Given the description of an element on the screen output the (x, y) to click on. 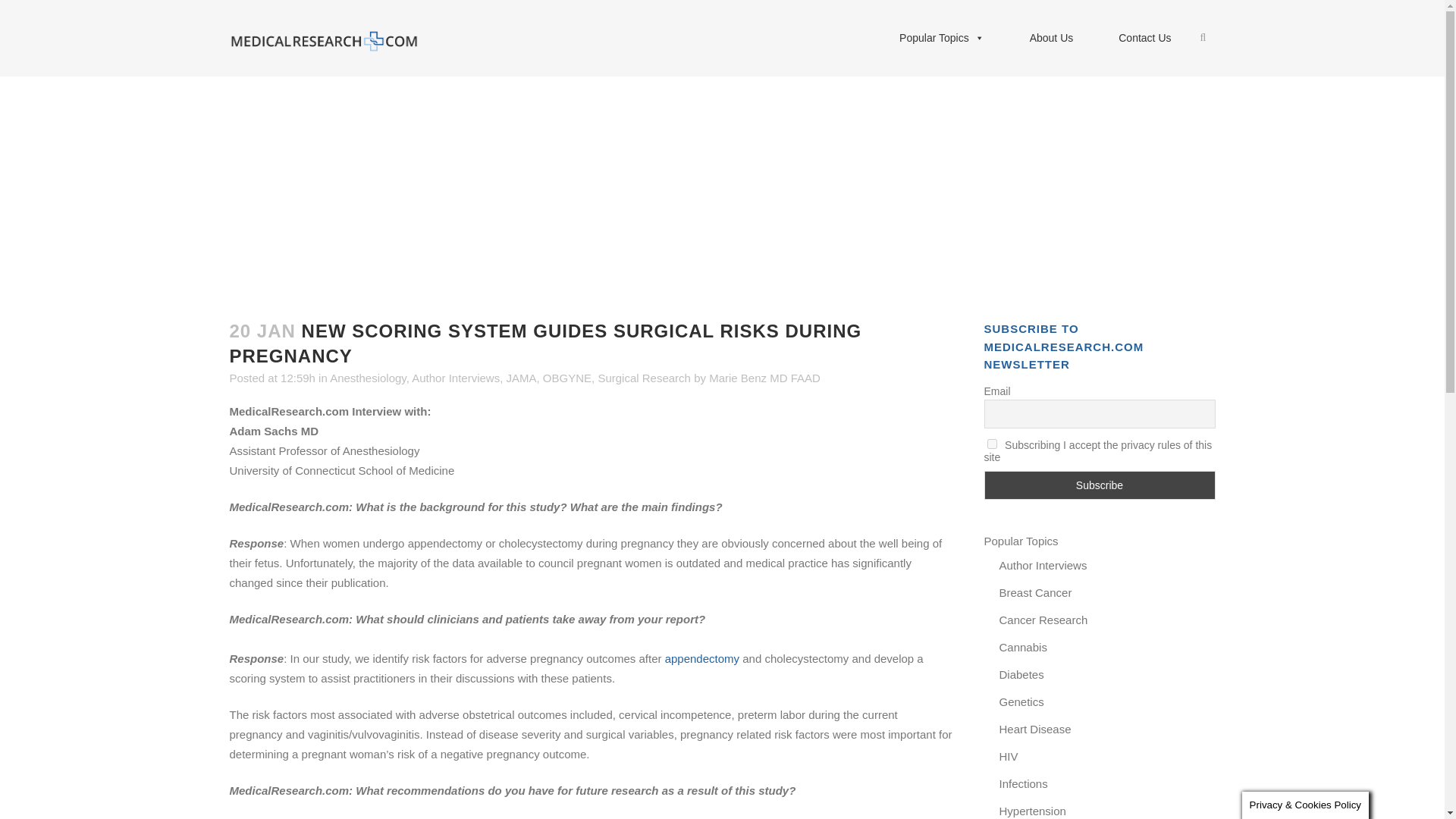
on (992, 443)
About Us (1051, 37)
Popular Topics (941, 37)
Subscribe (1099, 484)
Contact Us (1144, 37)
